Given the description of an element on the screen output the (x, y) to click on. 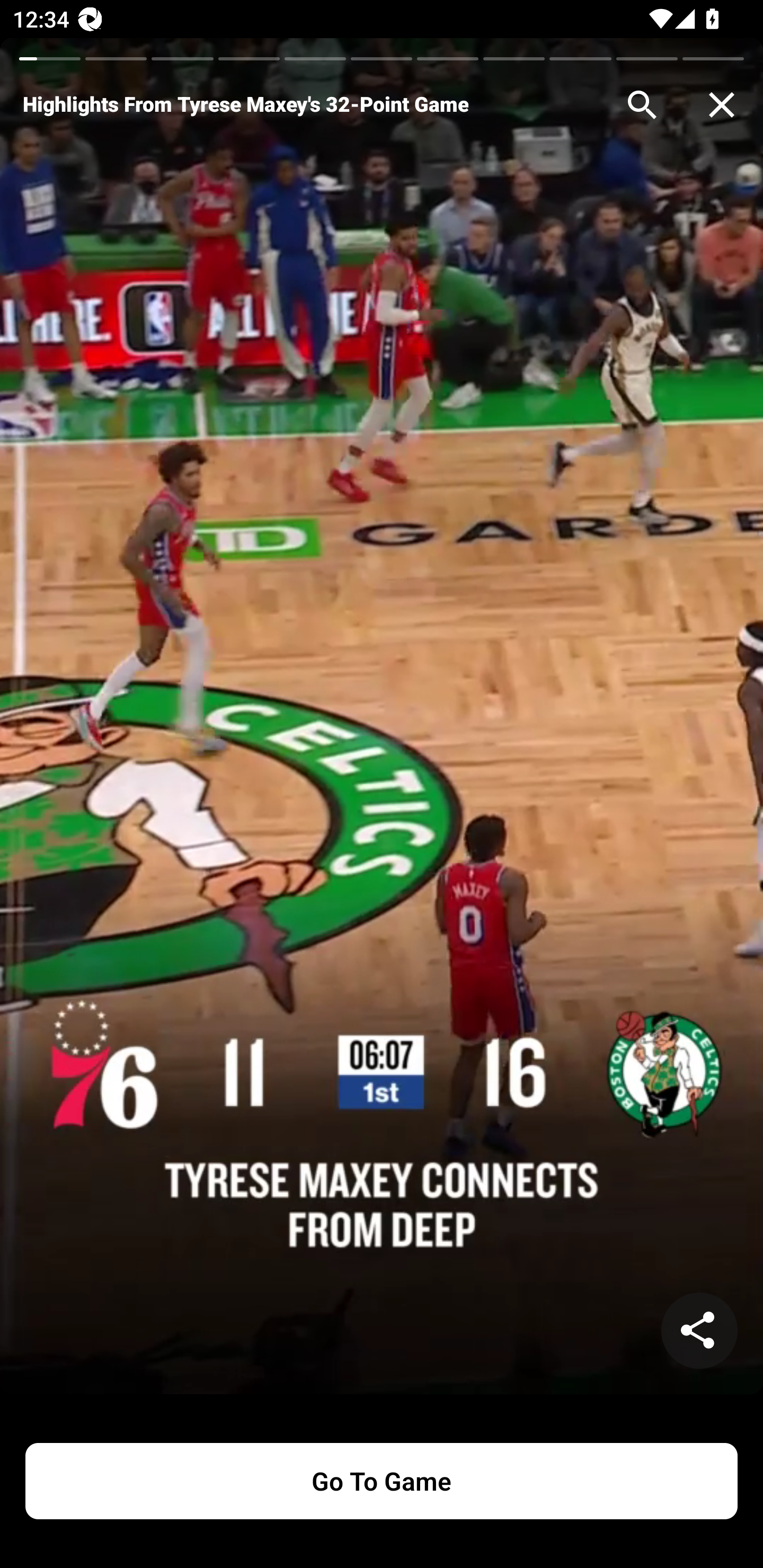
search (642, 104)
close (721, 104)
share (699, 1330)
Go To Game (381, 1480)
